Given the description of an element on the screen output the (x, y) to click on. 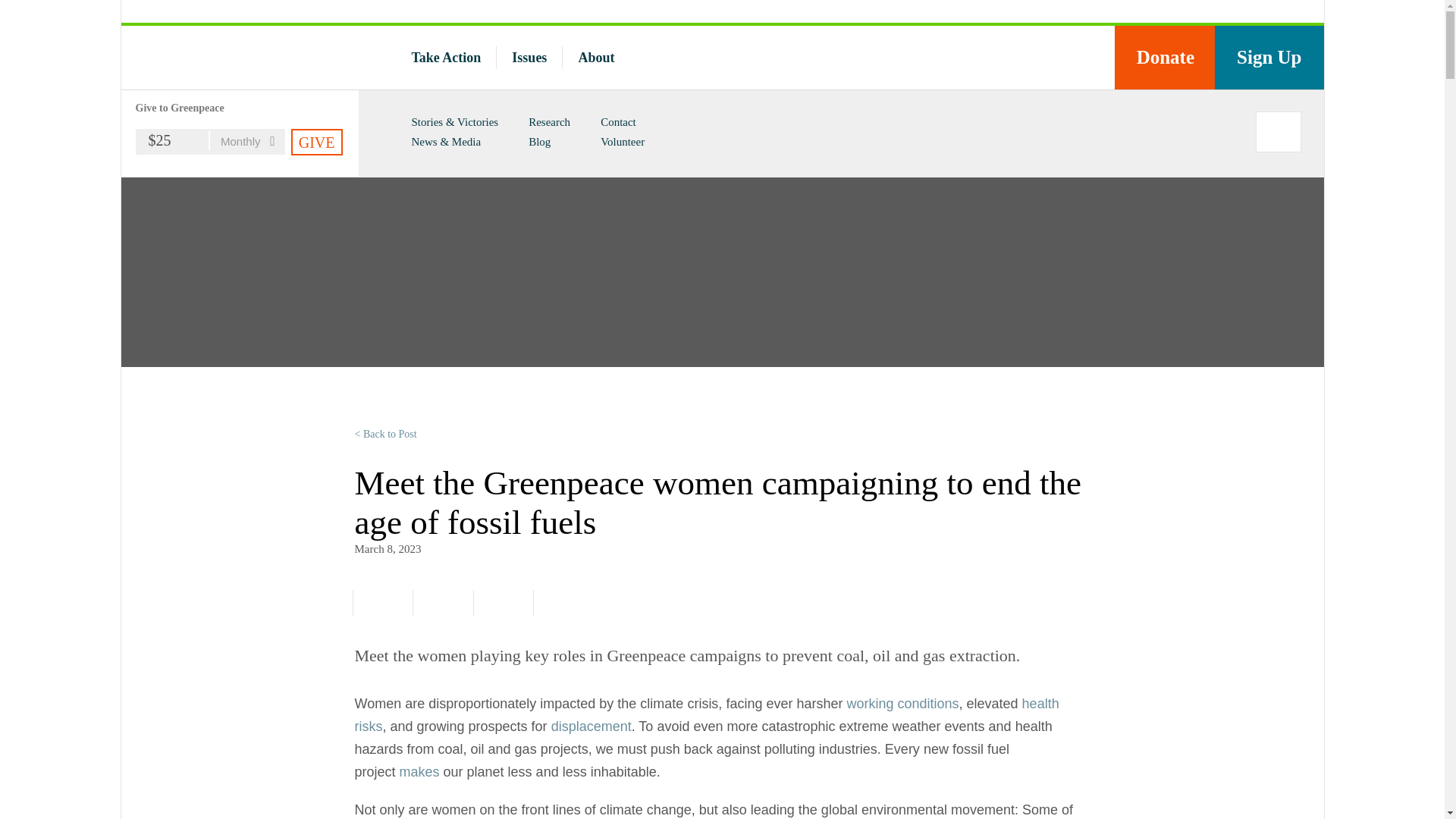
displacement (591, 726)
Blog (539, 141)
Contact (617, 121)
Research (549, 121)
This link will lead you to ohchr.org (591, 726)
Volunteer (622, 141)
Take Action (445, 57)
facebook (379, 602)
health risks (707, 714)
YouTube (1048, 57)
